Given the description of an element on the screen output the (x, y) to click on. 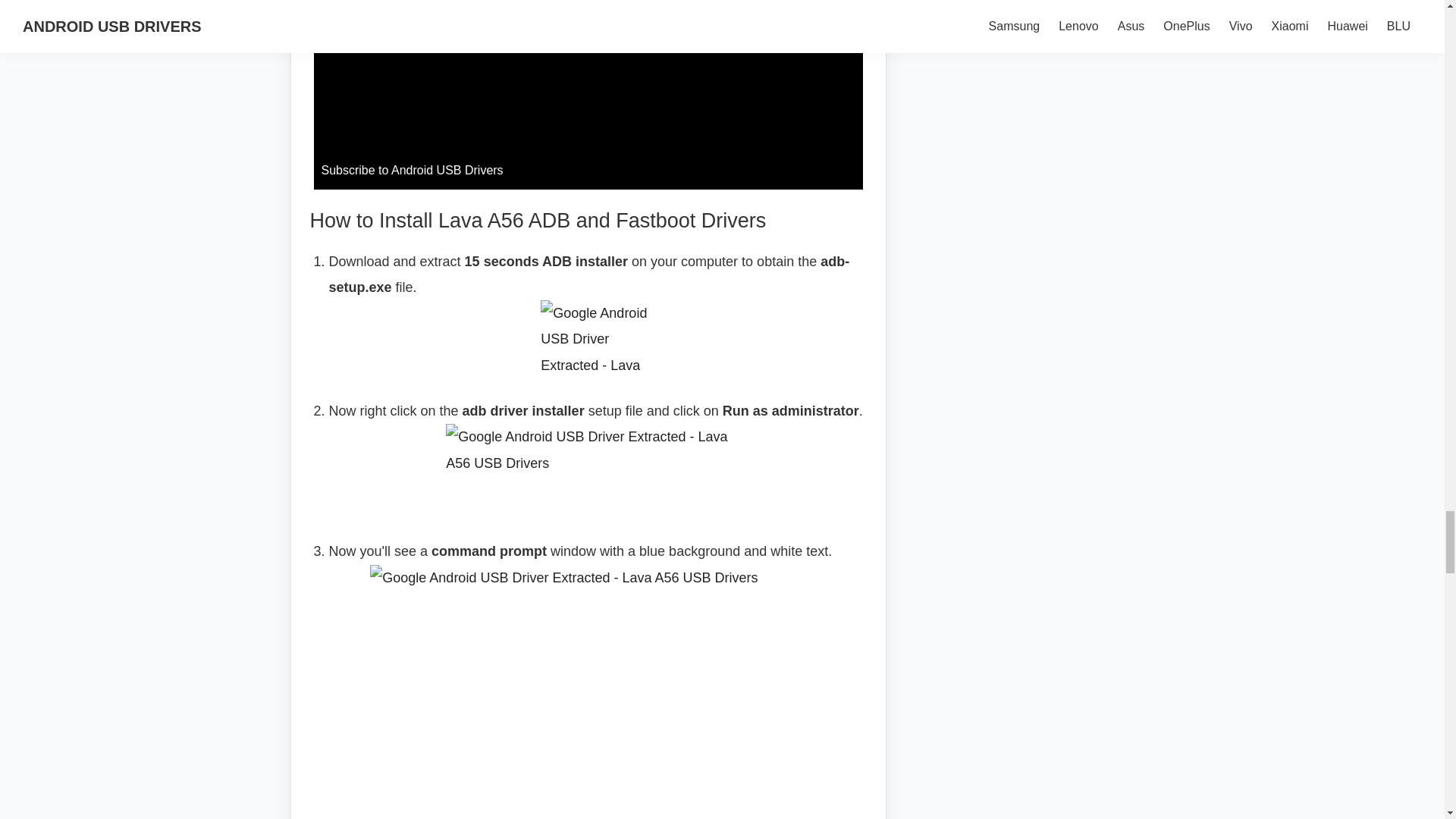
Google Android USB Driver Extracted - Lava A56 USB Drivers (597, 469)
Google Android USB Driver Extracted - Lava A56 USB Drivers (597, 684)
Google Android USB Driver Extracted - Lava A56 USB Drivers (596, 337)
